Given the description of an element on the screen output the (x, y) to click on. 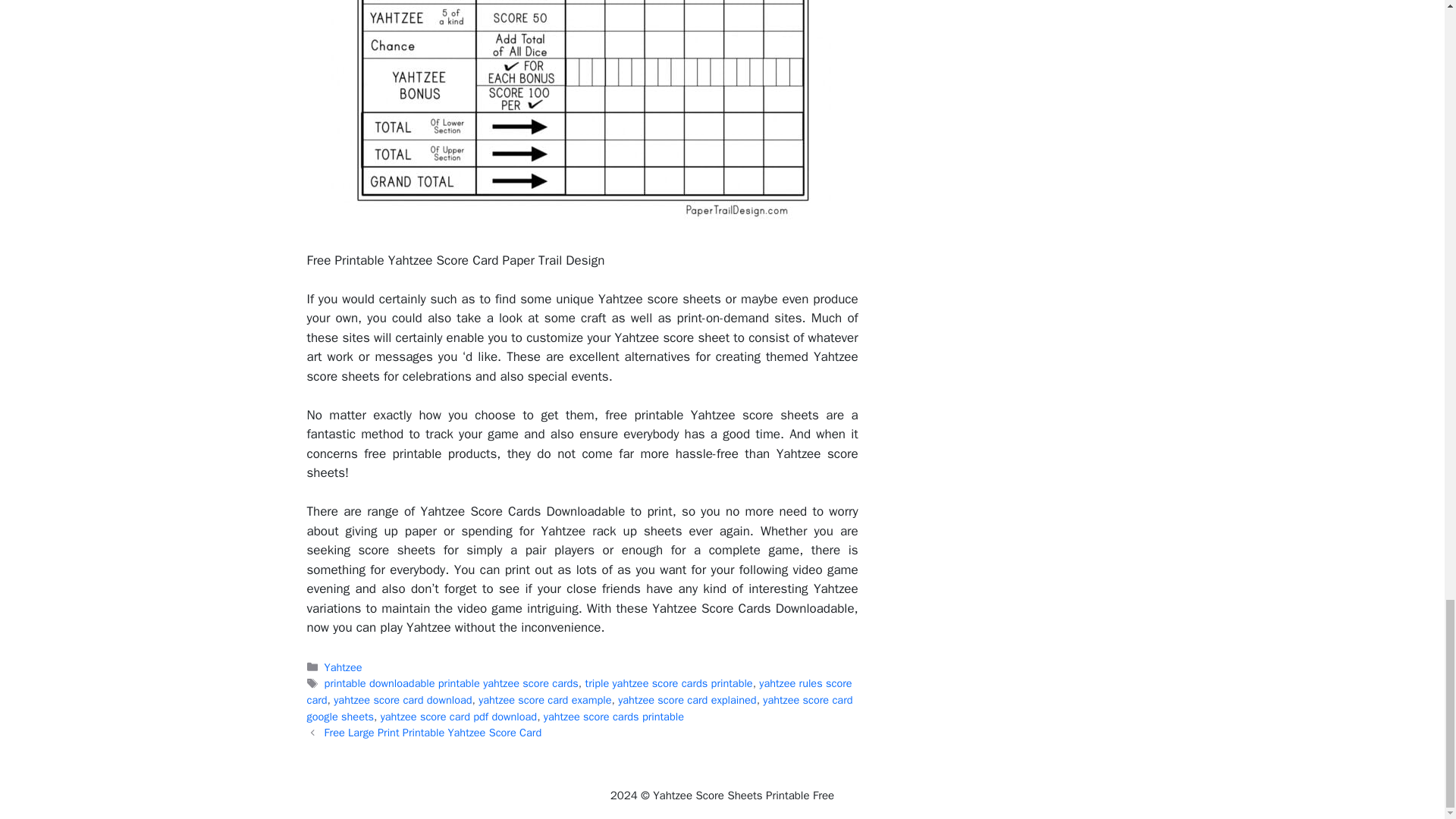
yahtzee rules score card (578, 691)
yahtzee score card download (402, 699)
Free Printable Yahtzee Score Card Paper Trail Design (582, 115)
yahtzee score card explained (687, 699)
triple yahtzee score cards printable (668, 683)
Free Large Print Printable Yahtzee Score Card (432, 732)
yahtzee score card pdf download (458, 716)
yahtzee score card google sheets (578, 707)
printable downloadable printable yahtzee score cards (451, 683)
Yahtzee (343, 667)
yahtzee score card example (545, 699)
yahtzee score cards printable (613, 716)
